Given the description of an element on the screen output the (x, y) to click on. 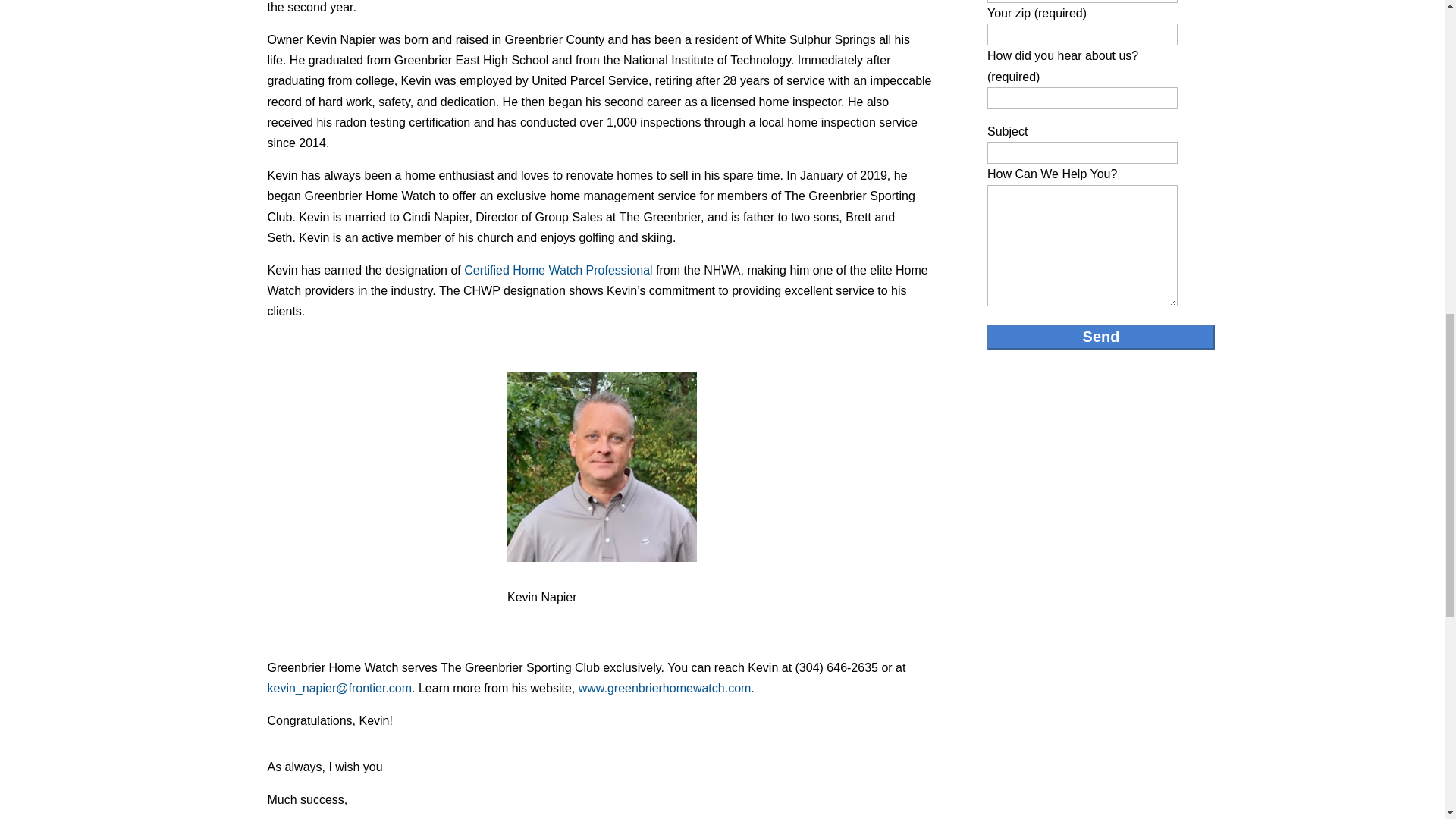
Send (1100, 336)
